Given the description of an element on the screen output the (x, y) to click on. 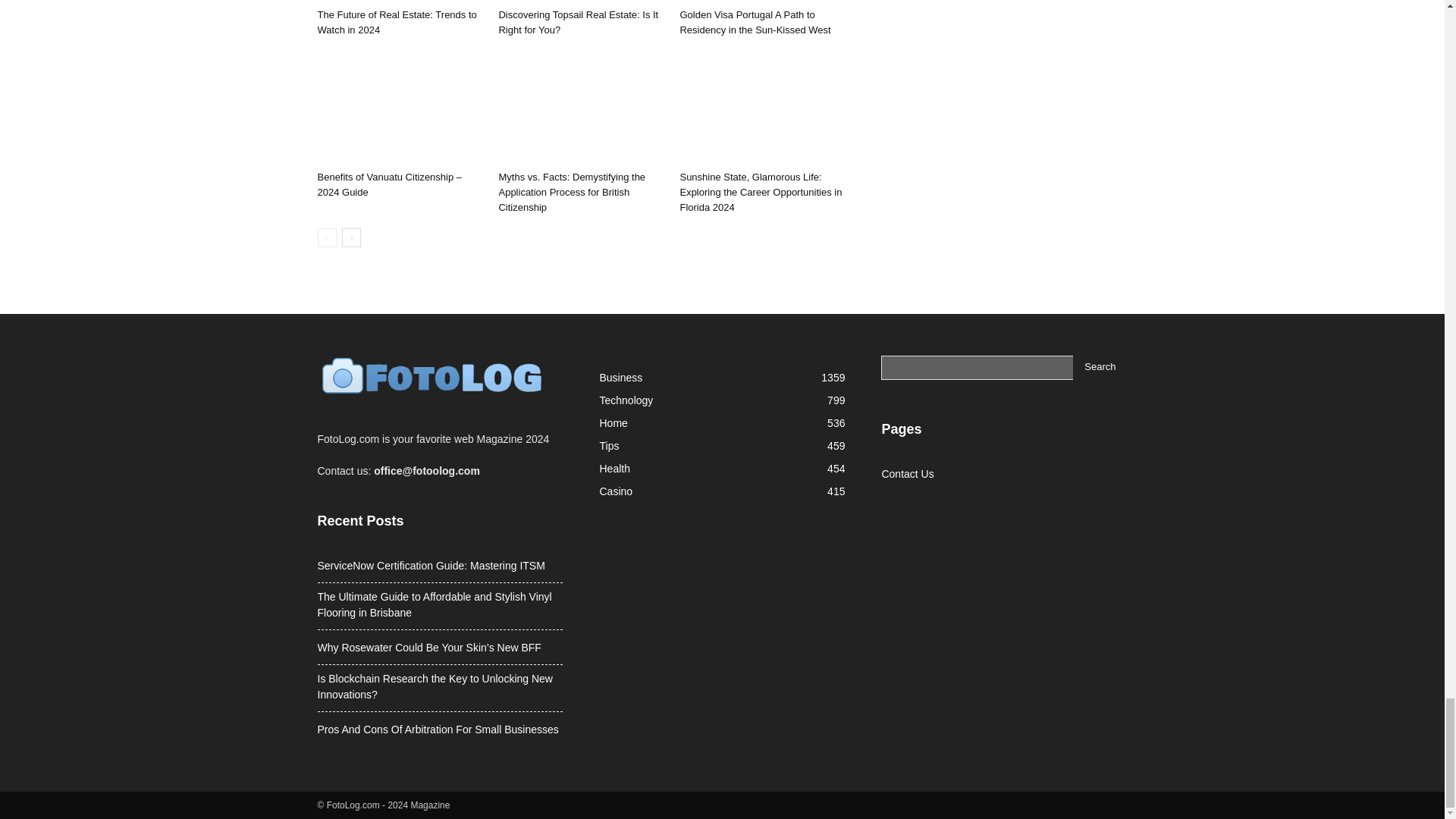
Discovering Topsail Real Estate: Is It Right for You? (577, 22)
The Future of Real Estate: Trends to Watch in 2024 (396, 22)
Search (1099, 367)
The Future of Real Estate: Trends to Watch in 2024 (399, 1)
Discovering Topsail Real Estate: Is It Right for You? (580, 1)
